Given the description of an element on the screen output the (x, y) to click on. 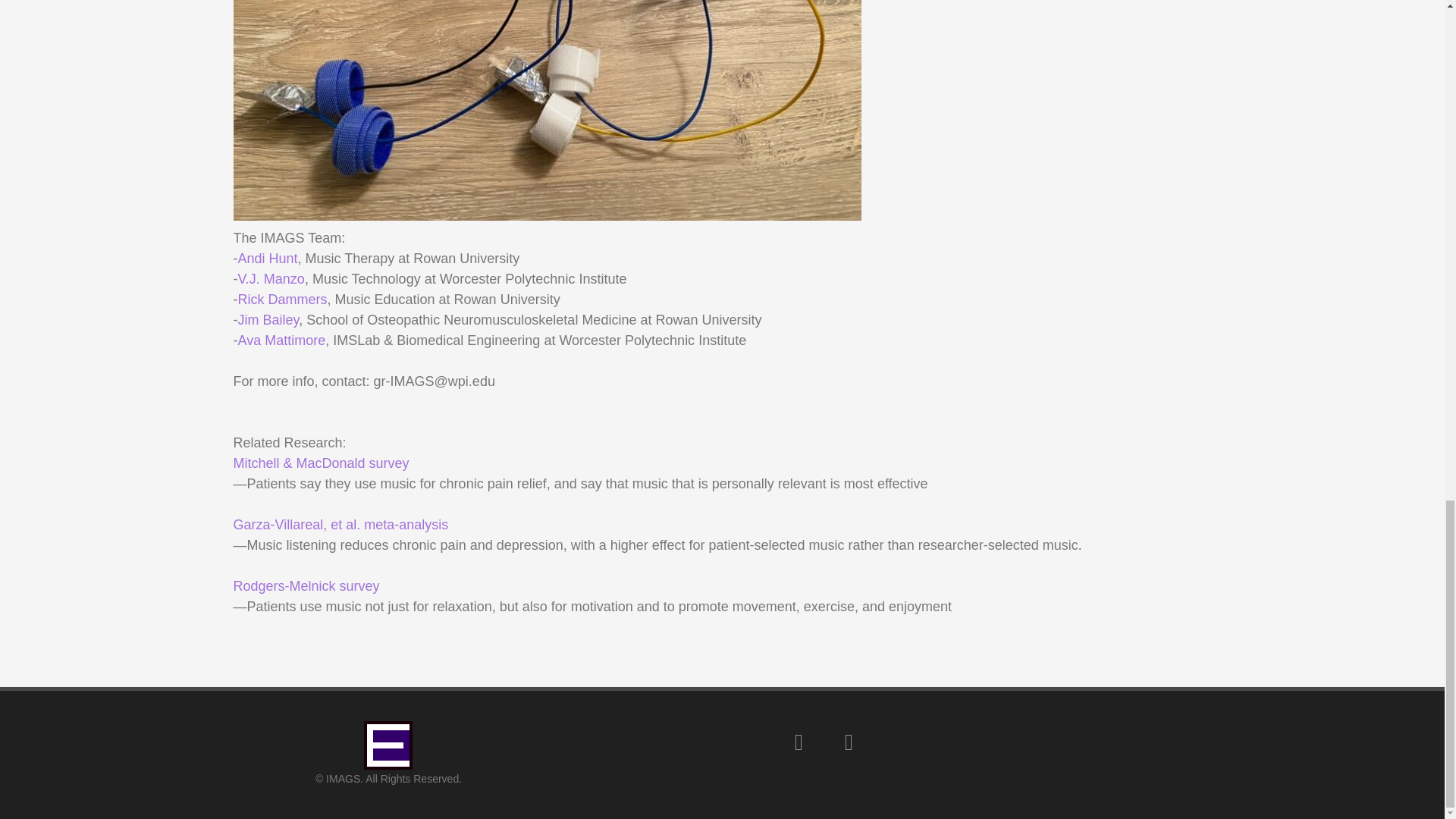
Rick Dammers (282, 299)
Garza-Villareal, et al. meta-analysis (340, 524)
Rodgers-Melnick survey (306, 585)
Andi Hunt (268, 258)
Jim Bailey (268, 319)
Ava Mattimore (282, 340)
V.J. Manzo (271, 278)
